Given the description of an element on the screen output the (x, y) to click on. 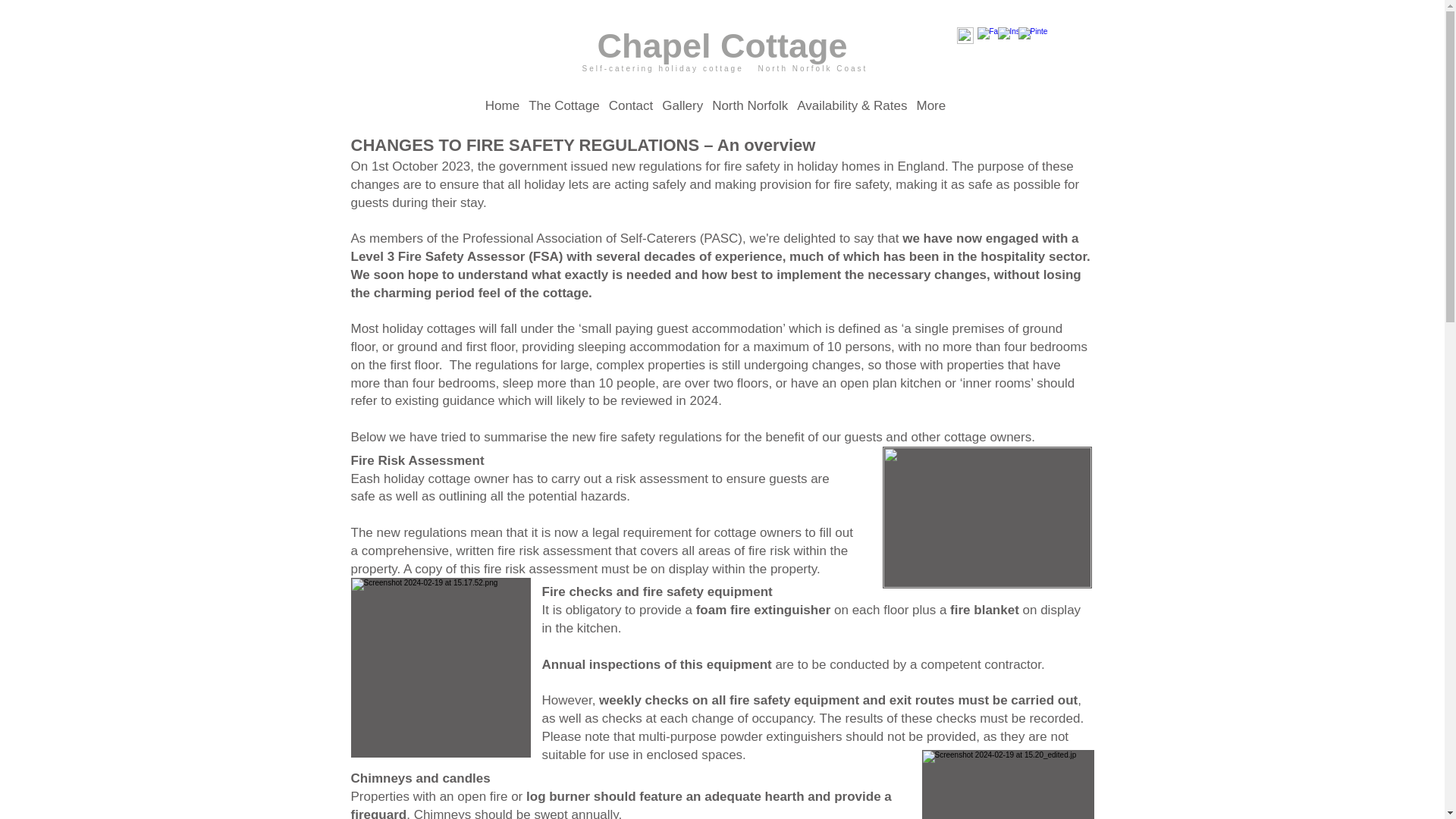
Chapel Cottage (721, 45)
Home (501, 104)
Gallery (682, 104)
small paying guest accommodation (681, 328)
